Given the description of an element on the screen output the (x, y) to click on. 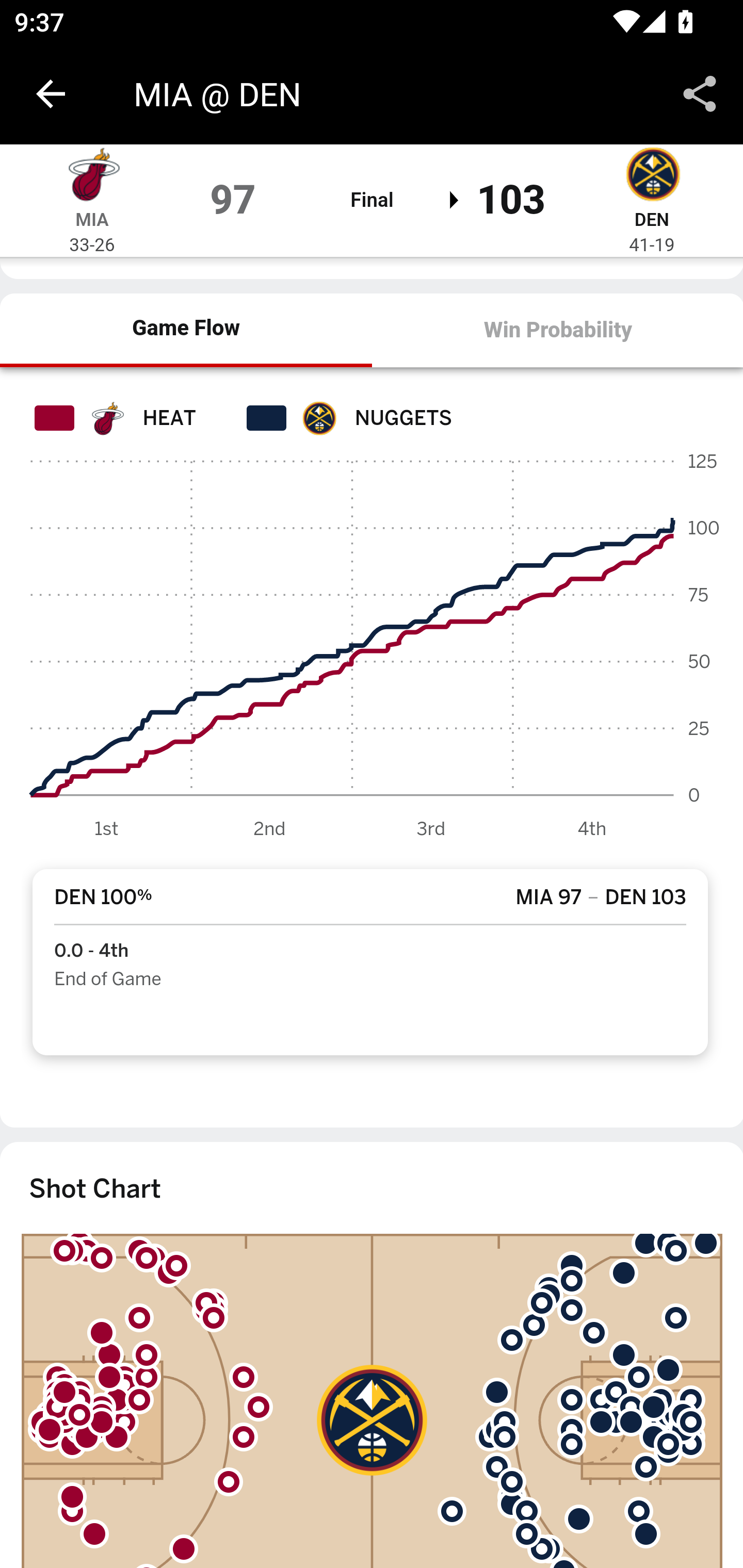
Navigate up (50, 93)
Share (699, 93)
Miami Heat (91, 177)
Denver Nuggets (651, 177)
MIA (91, 219)
DEN (651, 219)
Game Flow (186, 330)
Win Probability (557, 330)
Heat (106, 417)
#0e2240 (318, 417)
